Given the description of an element on the screen output the (x, y) to click on. 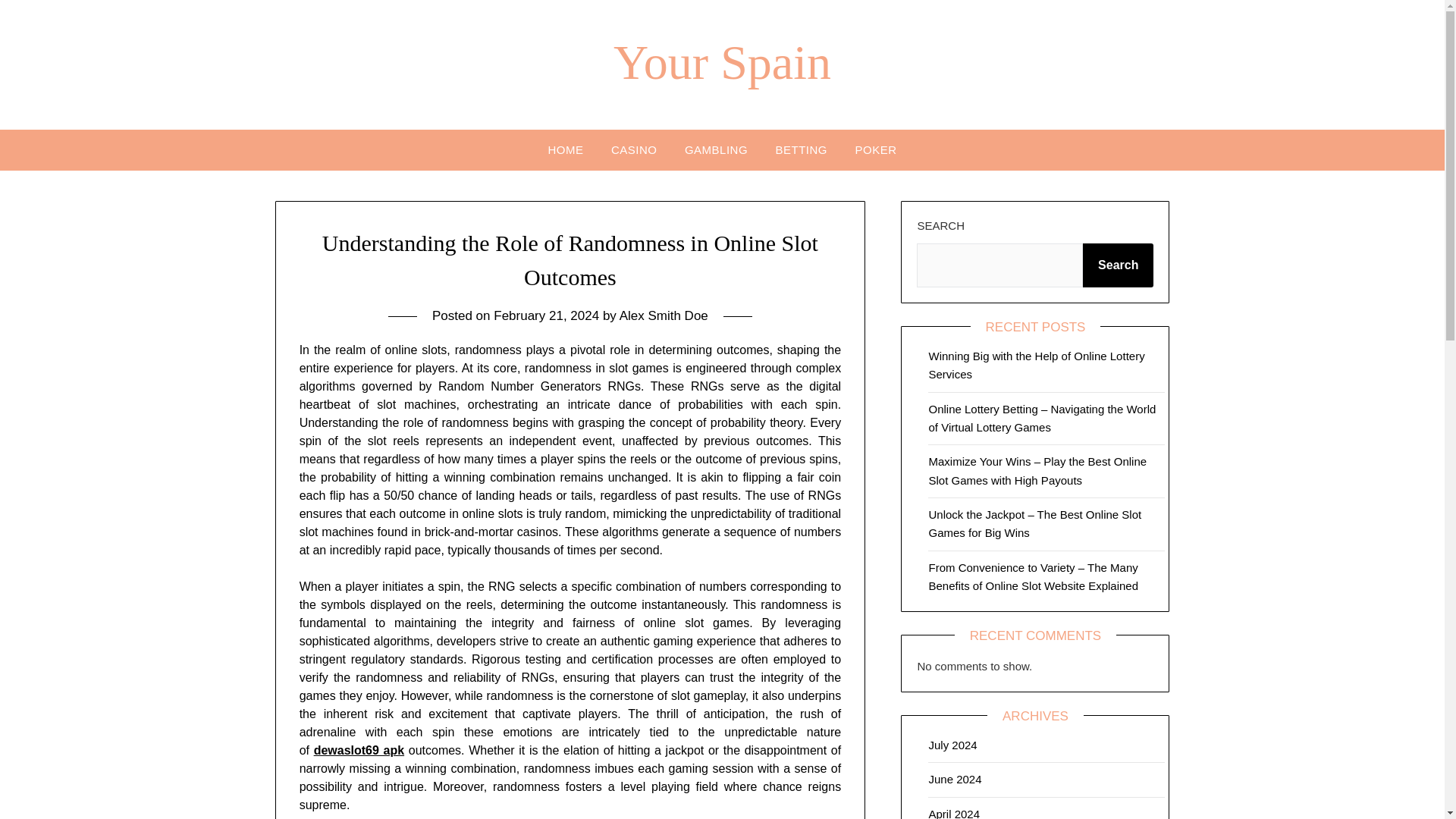
June 2024 (954, 779)
GAMBLING (716, 149)
dewaslot69 apk (359, 749)
Your Spain (721, 62)
Winning Big with the Help of Online Lottery Services (1036, 364)
POKER (875, 149)
Search (1118, 265)
HOME (565, 149)
February 21, 2024 (545, 315)
April 2024 (953, 813)
